Given the description of an element on the screen output the (x, y) to click on. 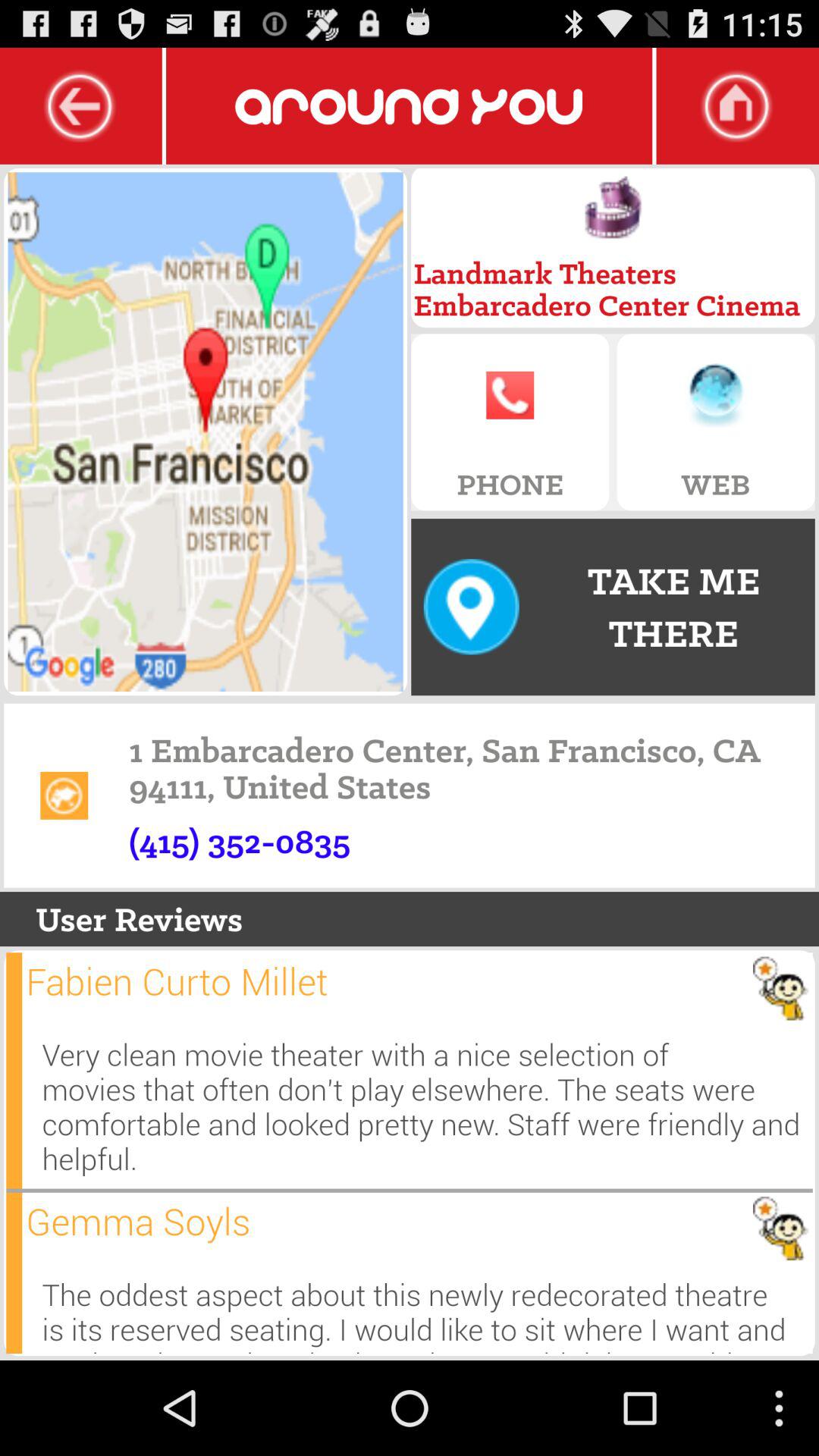
tap the app below 1 embarcadero center icon (239, 840)
